Given the description of an element on the screen output the (x, y) to click on. 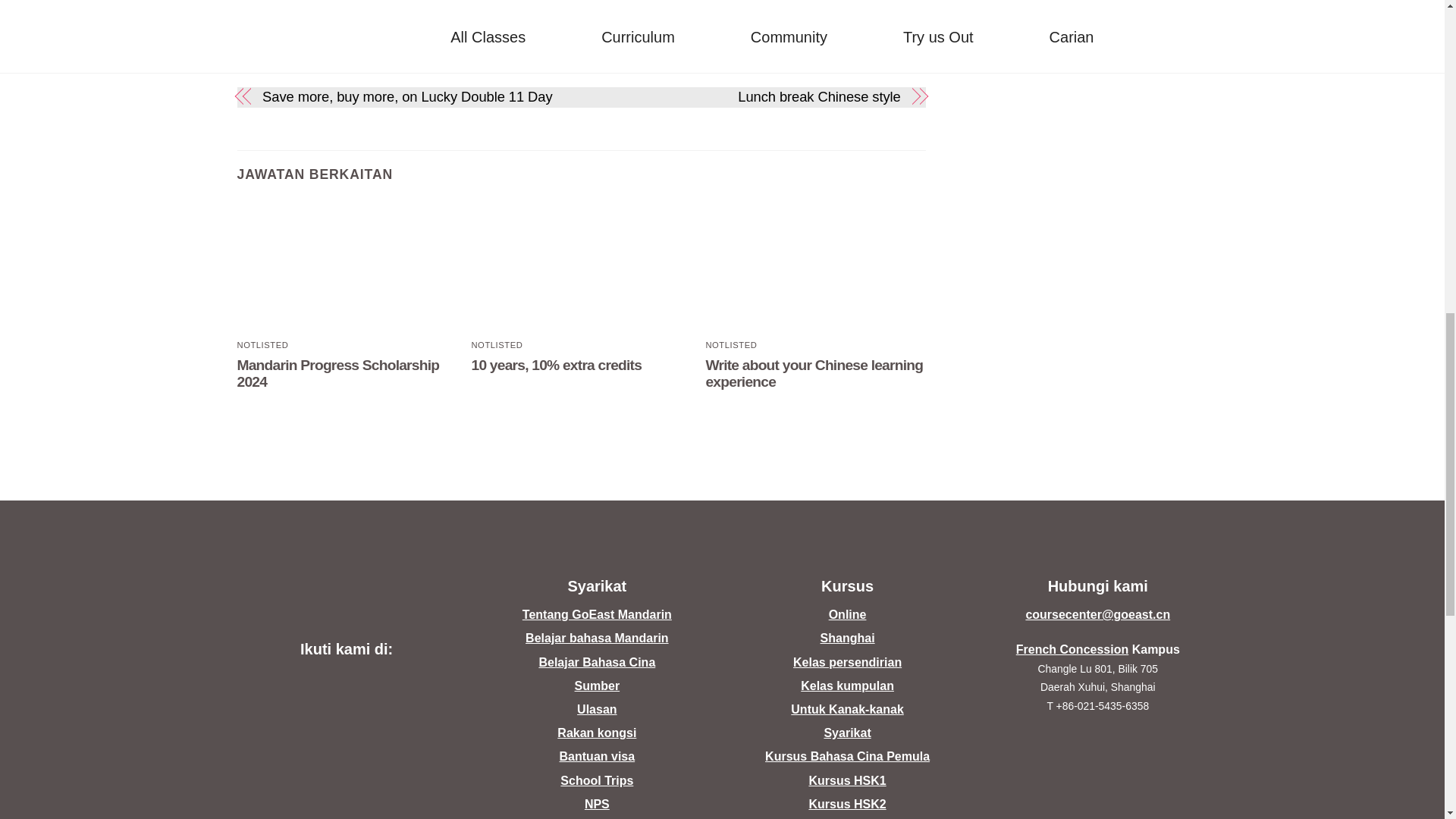
Mandarin Progress Scholarship 2024 (346, 267)
